Given the description of an element on the screen output the (x, y) to click on. 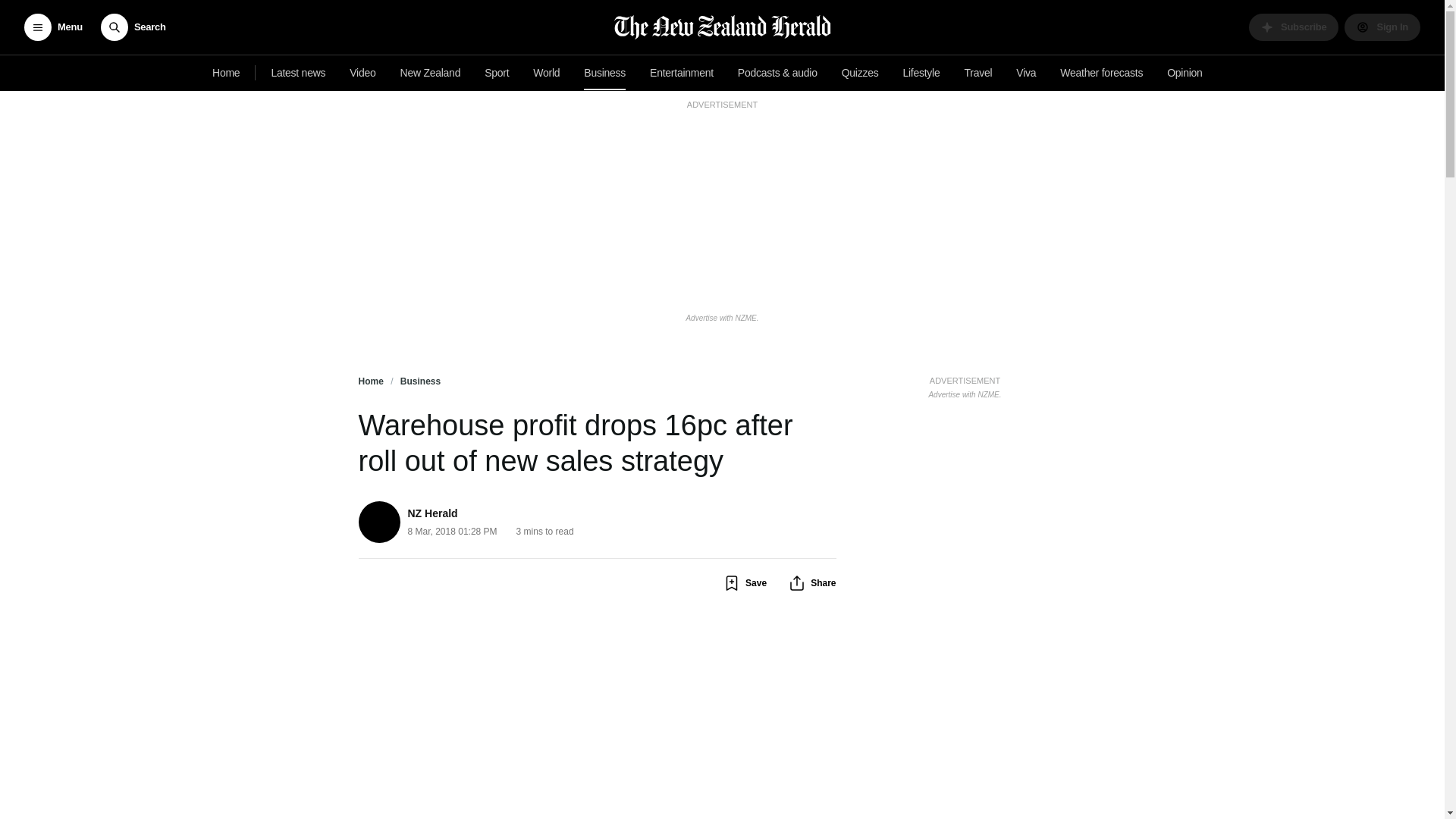
World (546, 72)
Business (604, 72)
Travel (978, 72)
Lifestyle (921, 72)
Manage your account (1382, 26)
Subscribe (1294, 26)
Viva (1026, 72)
Latest news (298, 72)
Menu (53, 26)
